Given the description of an element on the screen output the (x, y) to click on. 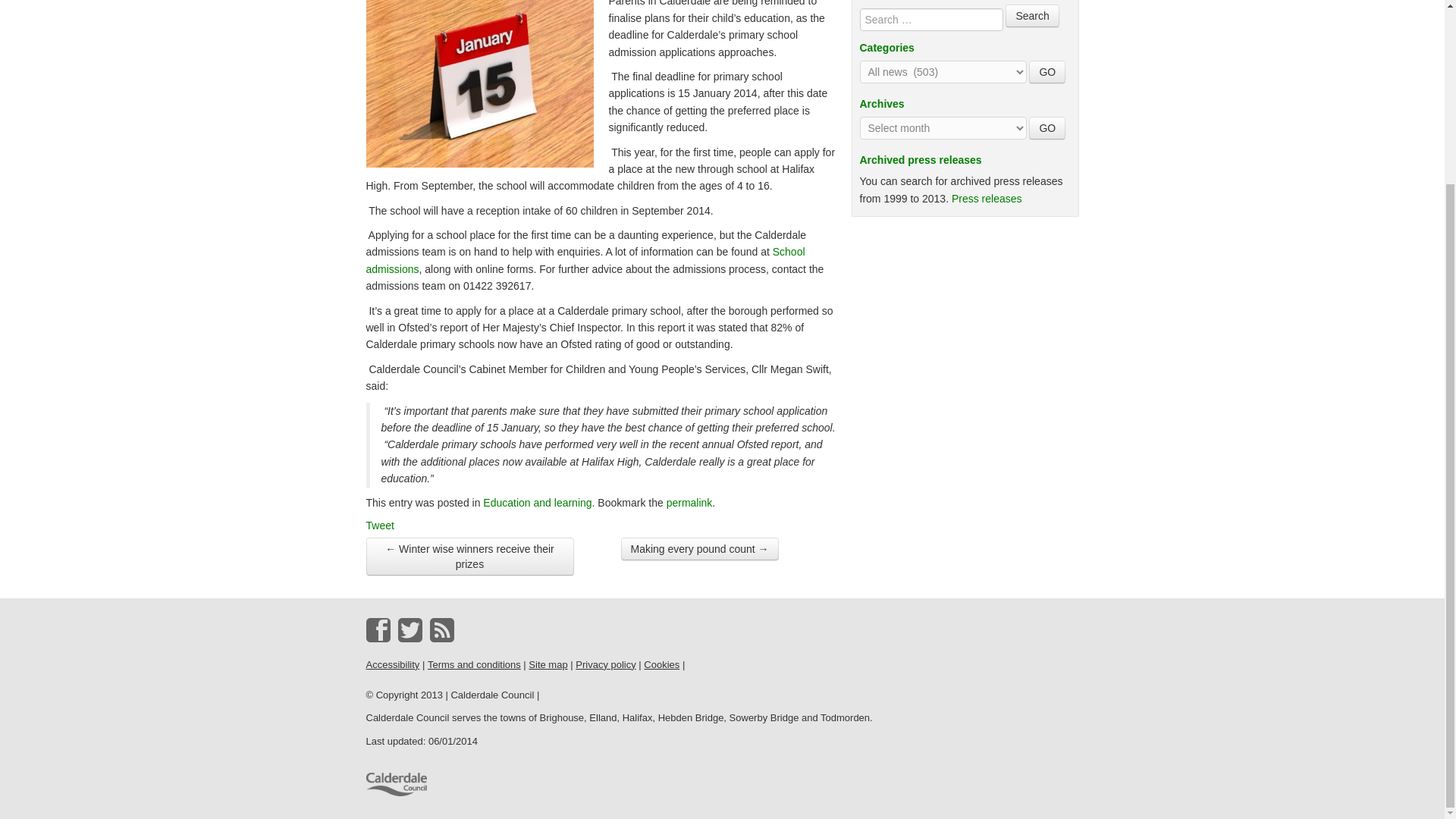
Accessibility (392, 664)
Facebook (377, 630)
RSS (440, 630)
Search (1032, 15)
Permalink to Time running out for primary applications (689, 502)
School admissions (585, 259)
Search (1032, 15)
Twitter (409, 630)
Site map (547, 664)
permalink (689, 502)
